Given the description of an element on the screen output the (x, y) to click on. 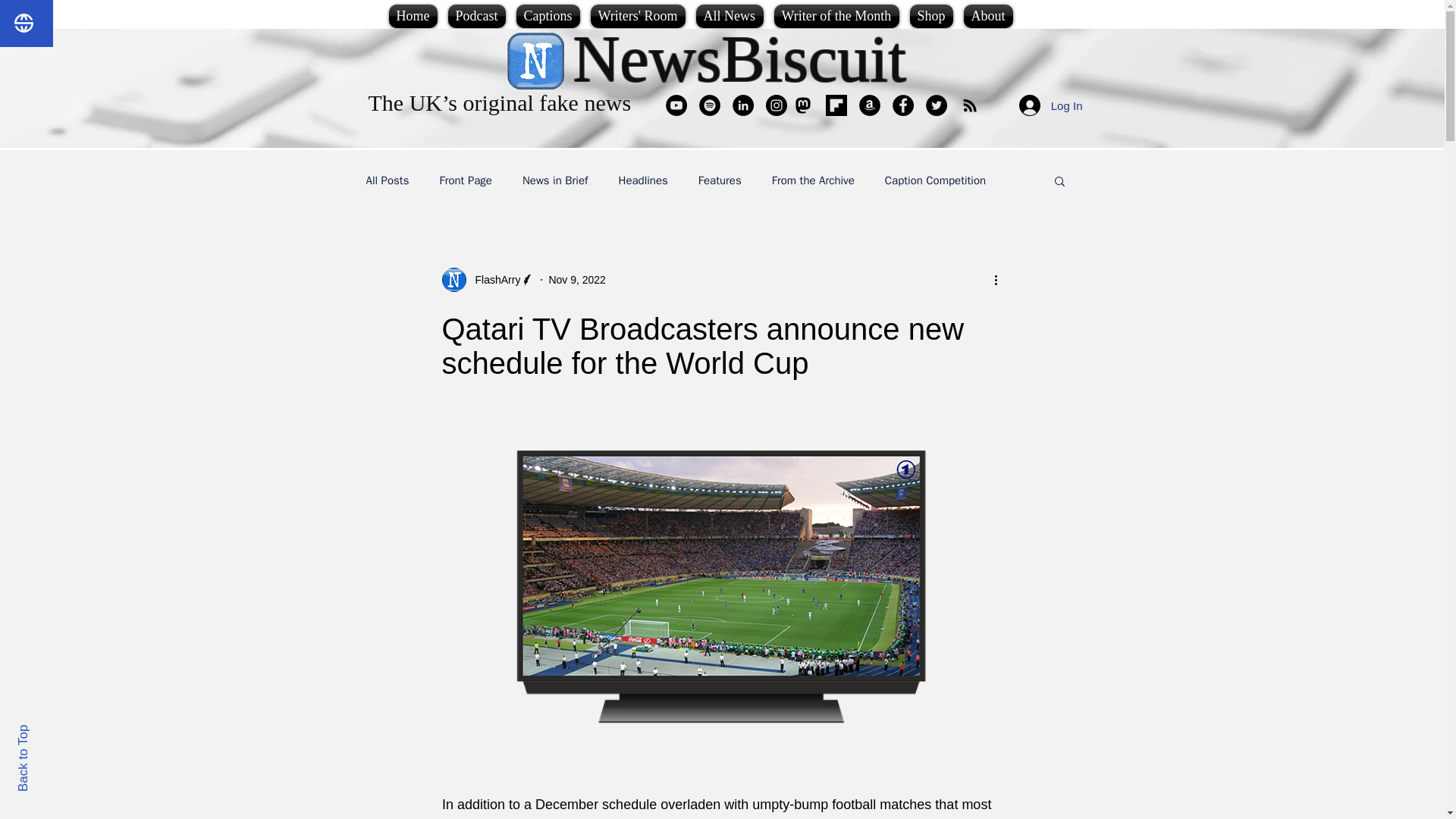
News in Brief (555, 179)
Podcast (476, 15)
Log In (1051, 105)
Captions (548, 15)
From the Archive (812, 179)
All Posts (387, 179)
Writer of the Month (836, 15)
Headlines (643, 179)
Writers' Room (637, 15)
